Given the description of an element on the screen output the (x, y) to click on. 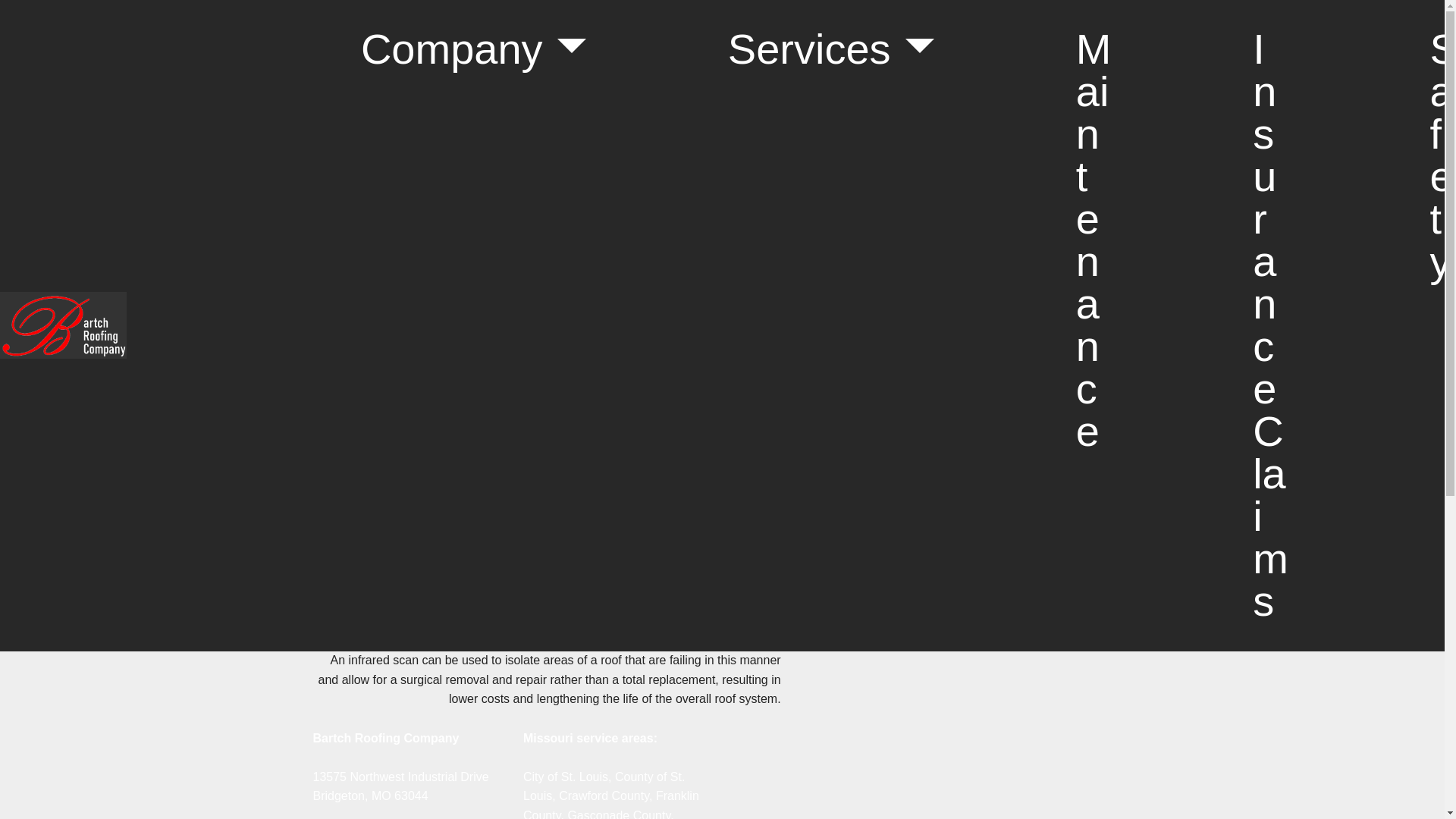
html5 templates (42, 8)
Company (473, 49)
Services (830, 49)
